Given the description of an element on the screen output the (x, y) to click on. 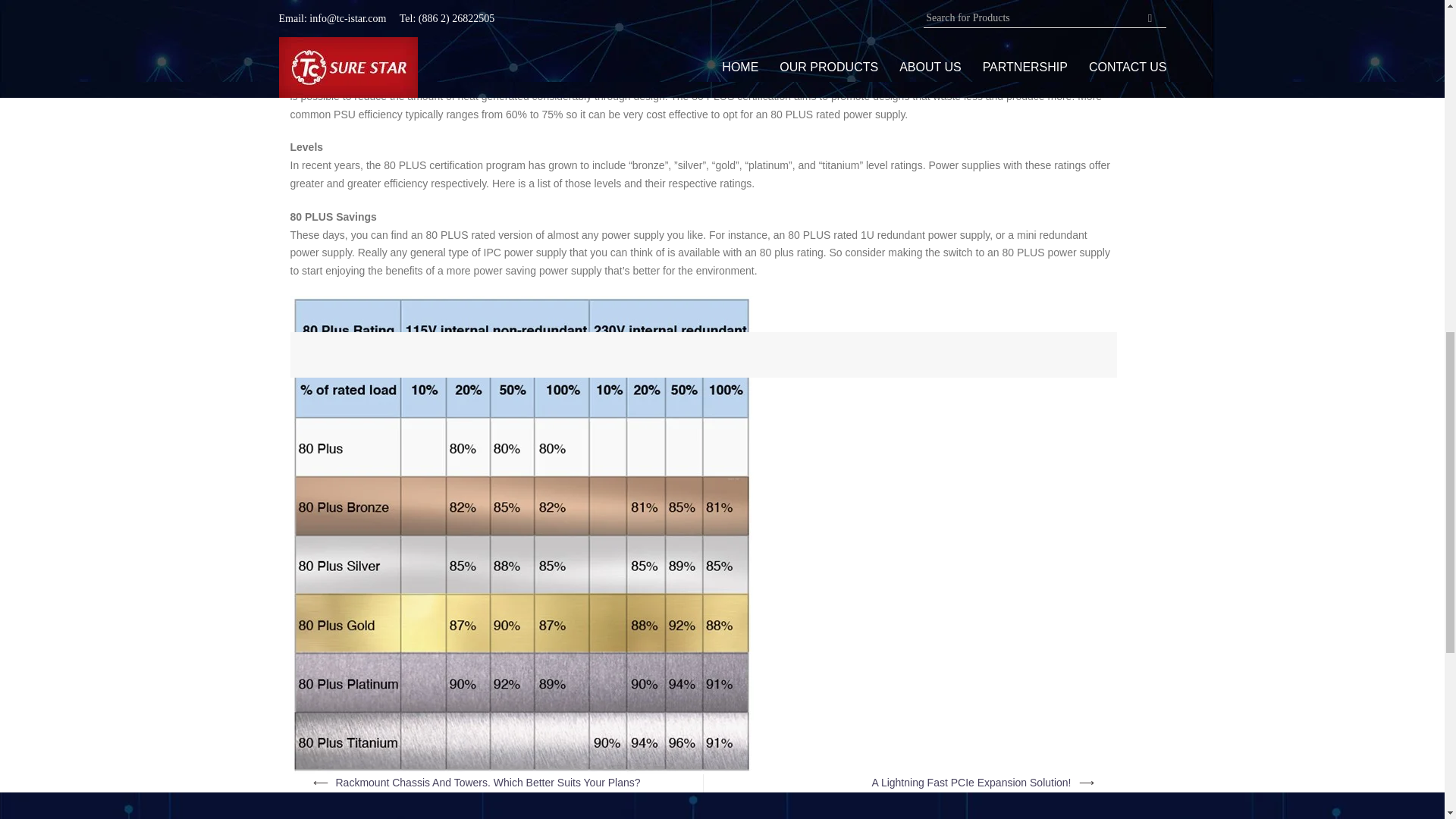
Rackmount Chassis And Towers. Which Better Suits Your Plans? (487, 782)
A Lightning Fast PCIe Expansion Solution! (970, 782)
